Given the description of an element on the screen output the (x, y) to click on. 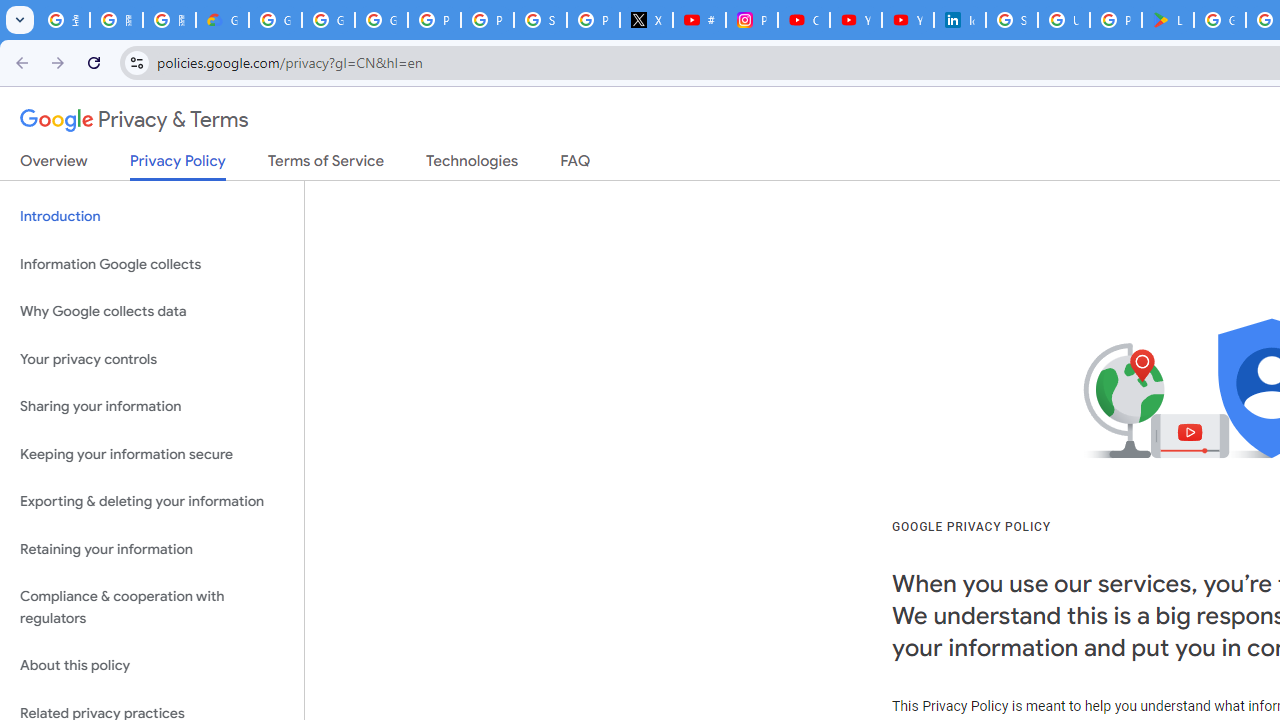
Last Shelter: Survival - Apps on Google Play (1167, 20)
Keeping your information secure (152, 453)
Sign in - Google Accounts (540, 20)
